Given the description of an element on the screen output the (x, y) to click on. 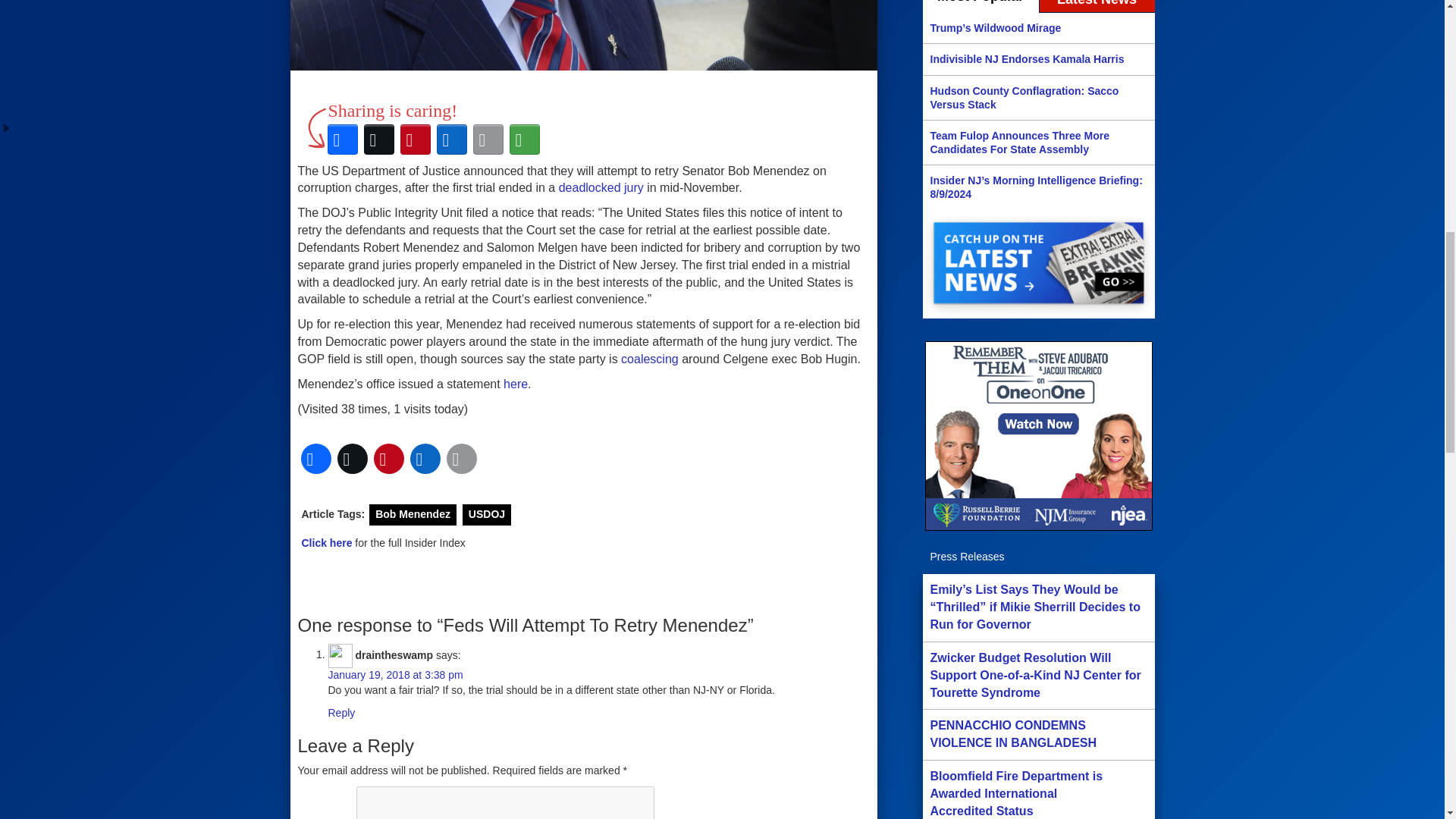
Email This (488, 139)
LinkedIn (451, 139)
Facebook (342, 139)
Bob Menendez (412, 513)
Click here (326, 542)
USDOJ (486, 513)
here (515, 383)
deadlocked jury (601, 187)
January 19, 2018 at 3:38 pm (395, 674)
Pinterest (415, 139)
